Given the description of an element on the screen output the (x, y) to click on. 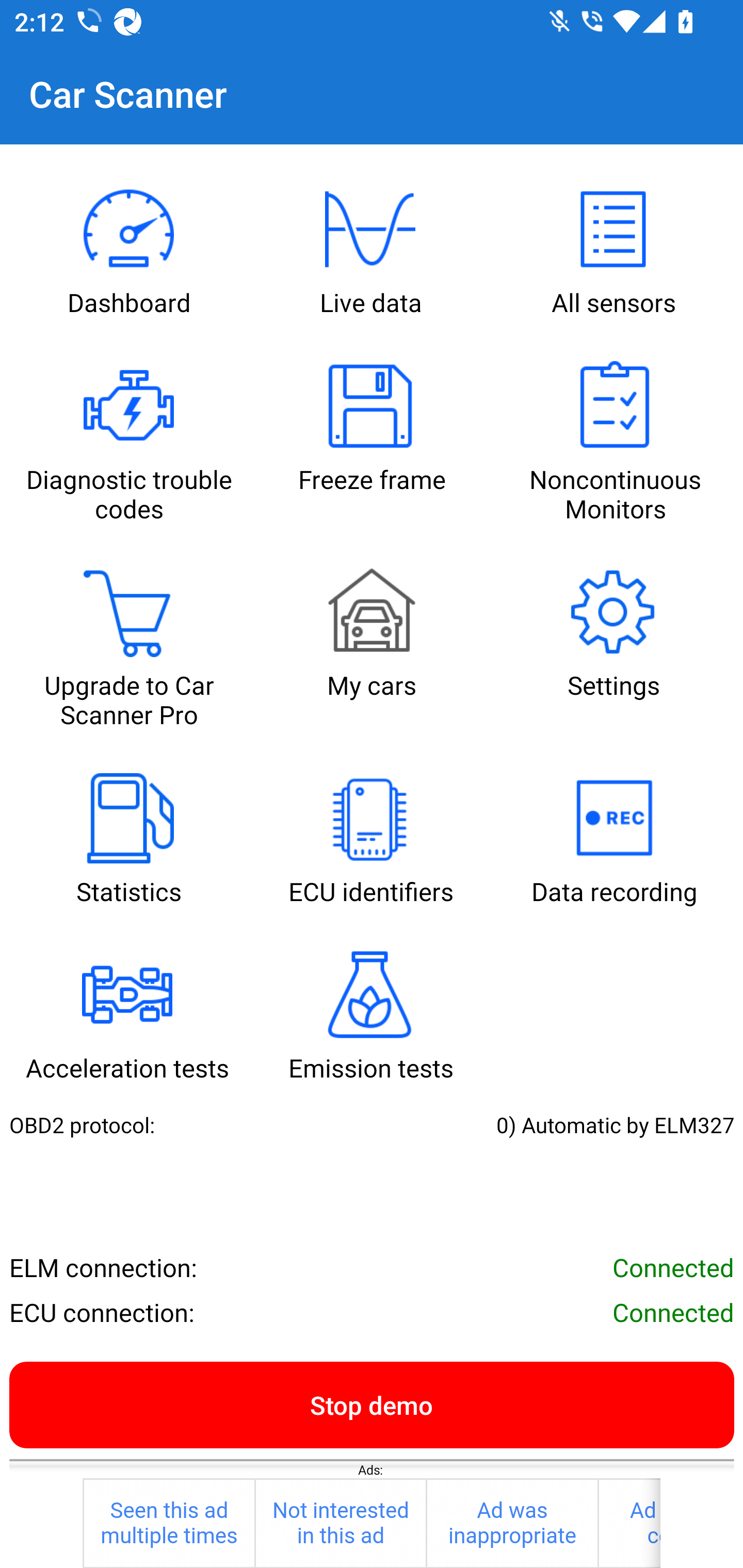
Stop demo (371, 1404)
